Given the description of an element on the screen output the (x, y) to click on. 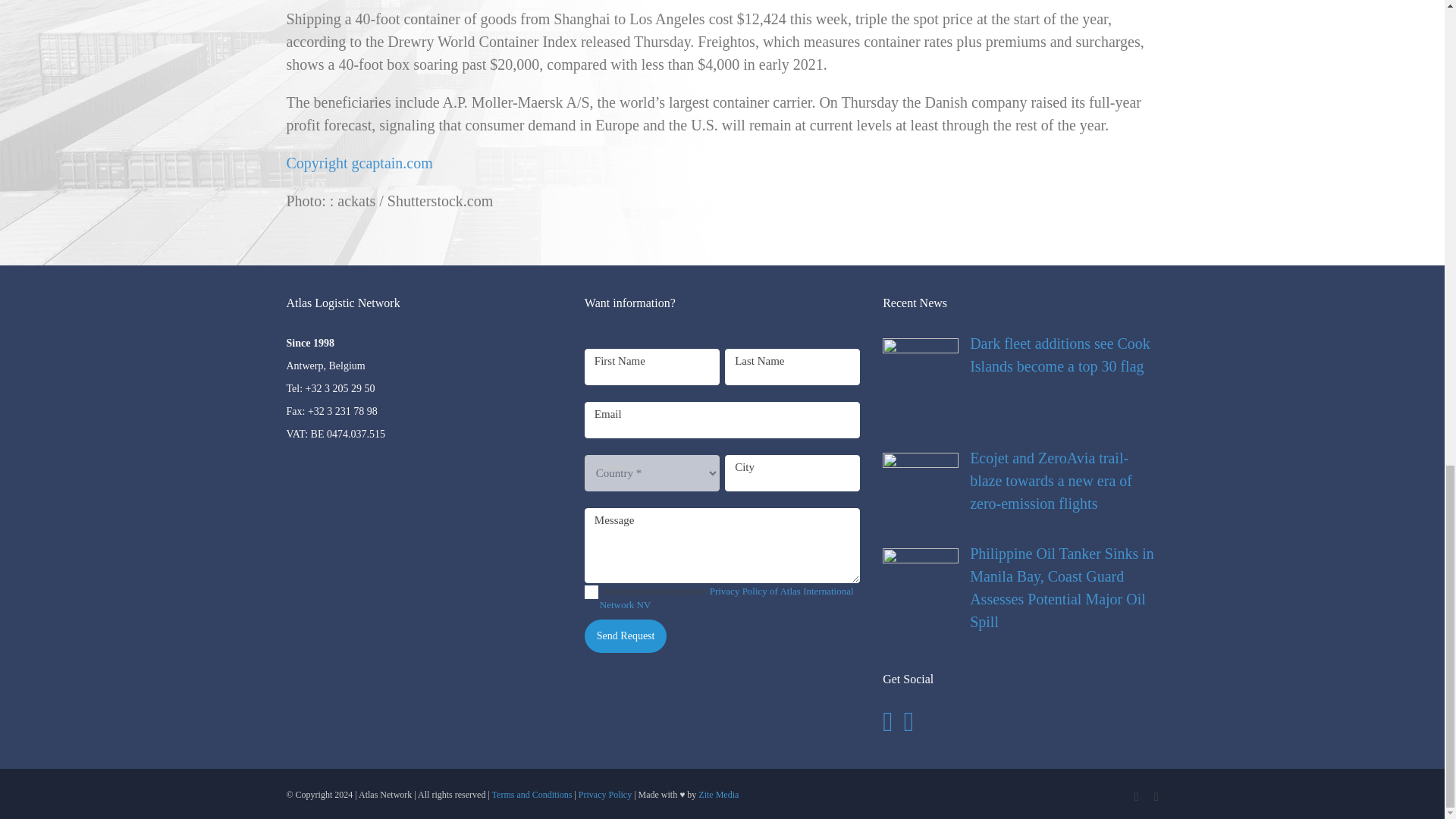
Terms and Conditions (532, 794)
Send Request (625, 635)
Dark fleet additions see Cook Islands become a top 30 flag (1019, 354)
Zite Media (718, 794)
Copyright gcaptain.com (359, 162)
Privacy Policy of Atlas International Network NV (726, 597)
Privacy Policy (604, 794)
